Given the description of an element on the screen output the (x, y) to click on. 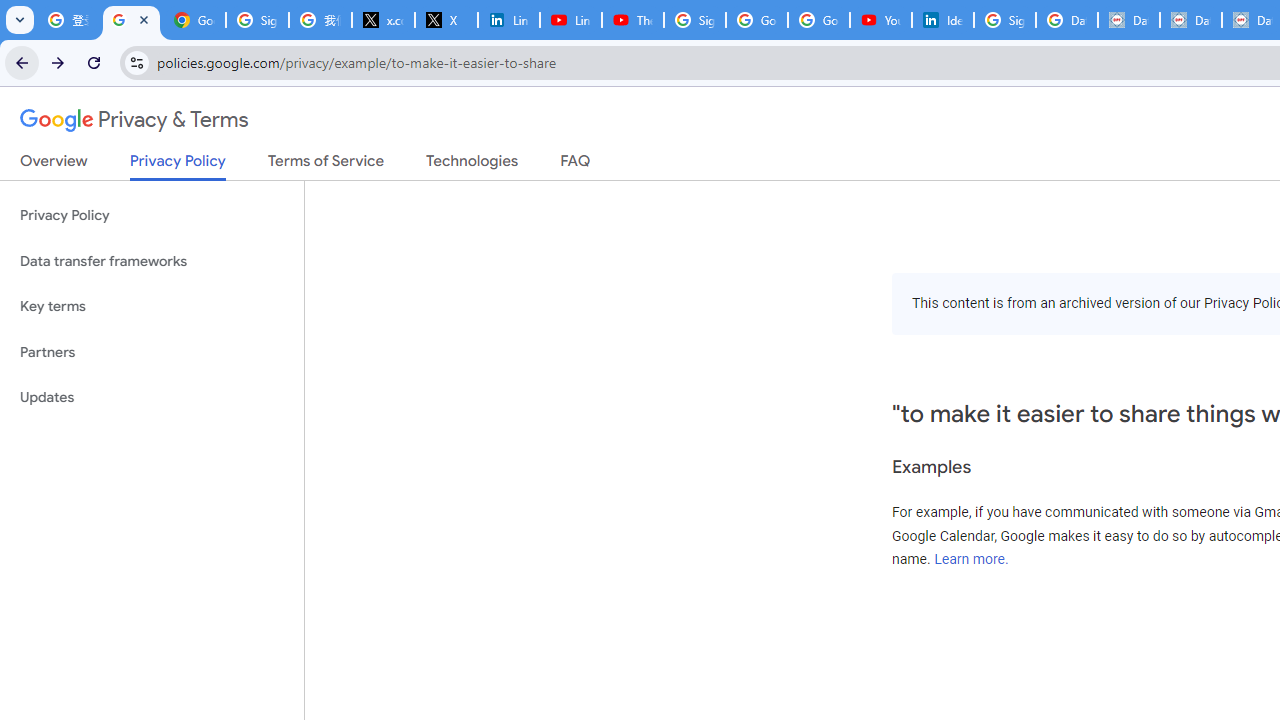
Key terms (152, 306)
Sign in - Google Accounts (1004, 20)
Data Privacy Framework (1128, 20)
Data transfer frameworks (152, 261)
Learn more. (971, 559)
Sign in - Google Accounts (257, 20)
LinkedIn - YouTube (570, 20)
